Given the description of an element on the screen output the (x, y) to click on. 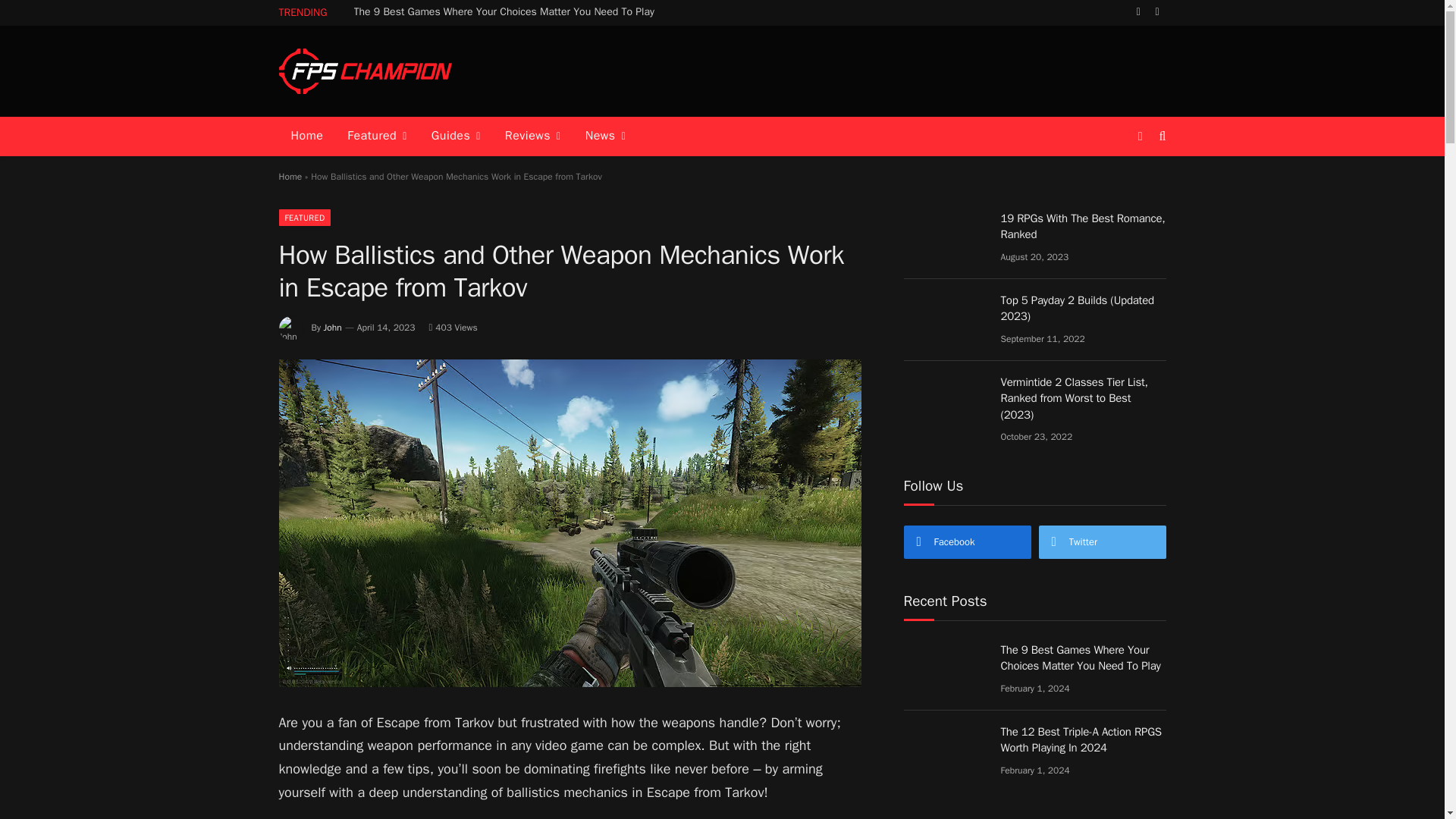
Reviews (533, 136)
FPS Champion (365, 70)
Home (307, 136)
The 9 Best Games Where Your Choices Matter You Need To Play (507, 11)
Guides (456, 136)
Featured (376, 136)
